Given the description of an element on the screen output the (x, y) to click on. 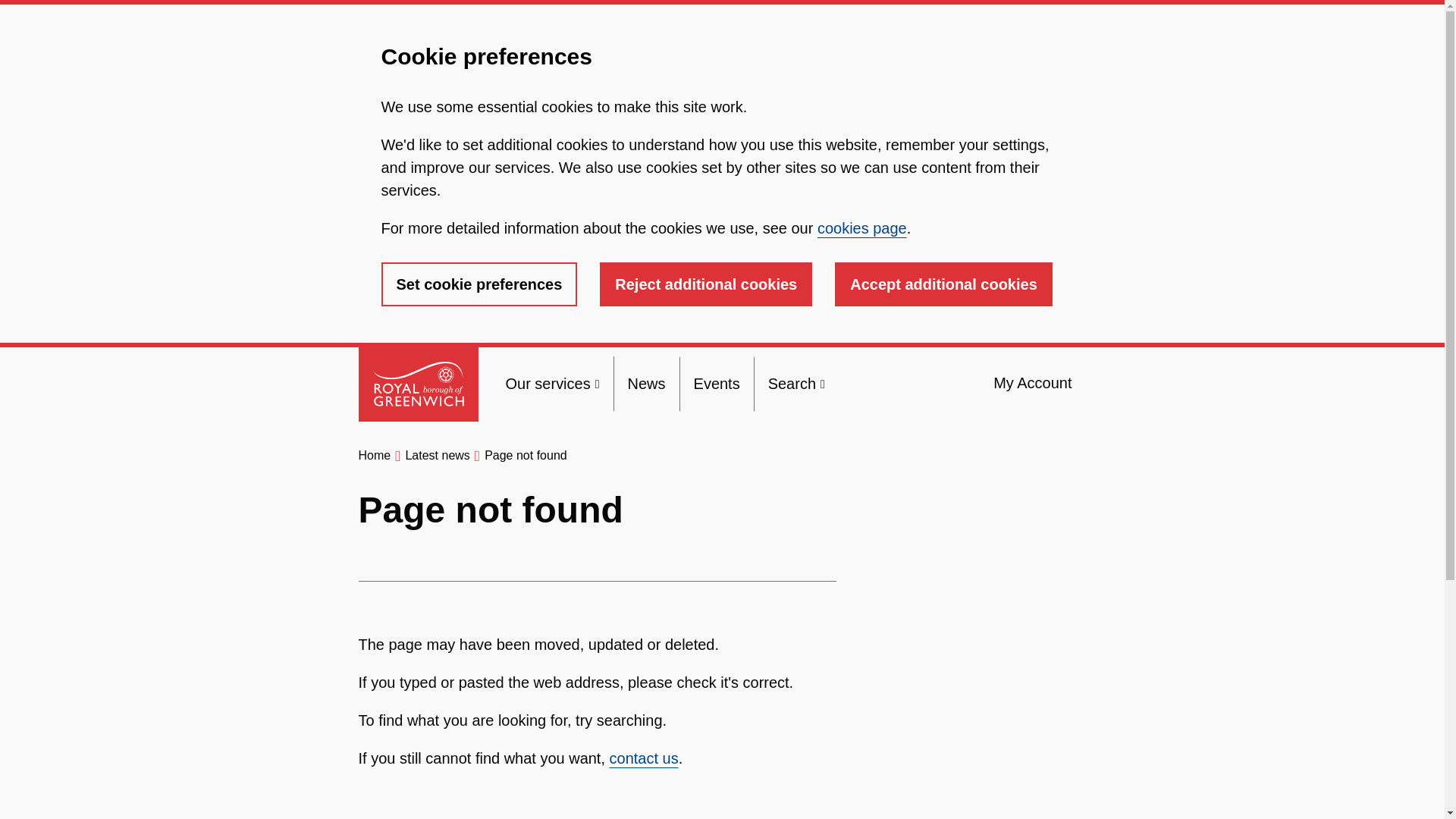
Our services (551, 383)
Reject additional cookies (705, 284)
My Account (1031, 383)
Events (716, 384)
Home (374, 455)
News (646, 384)
Latest news (436, 455)
contact us (644, 758)
Search (796, 383)
Set cookie preferences (478, 284)
